Given the description of an element on the screen output the (x, y) to click on. 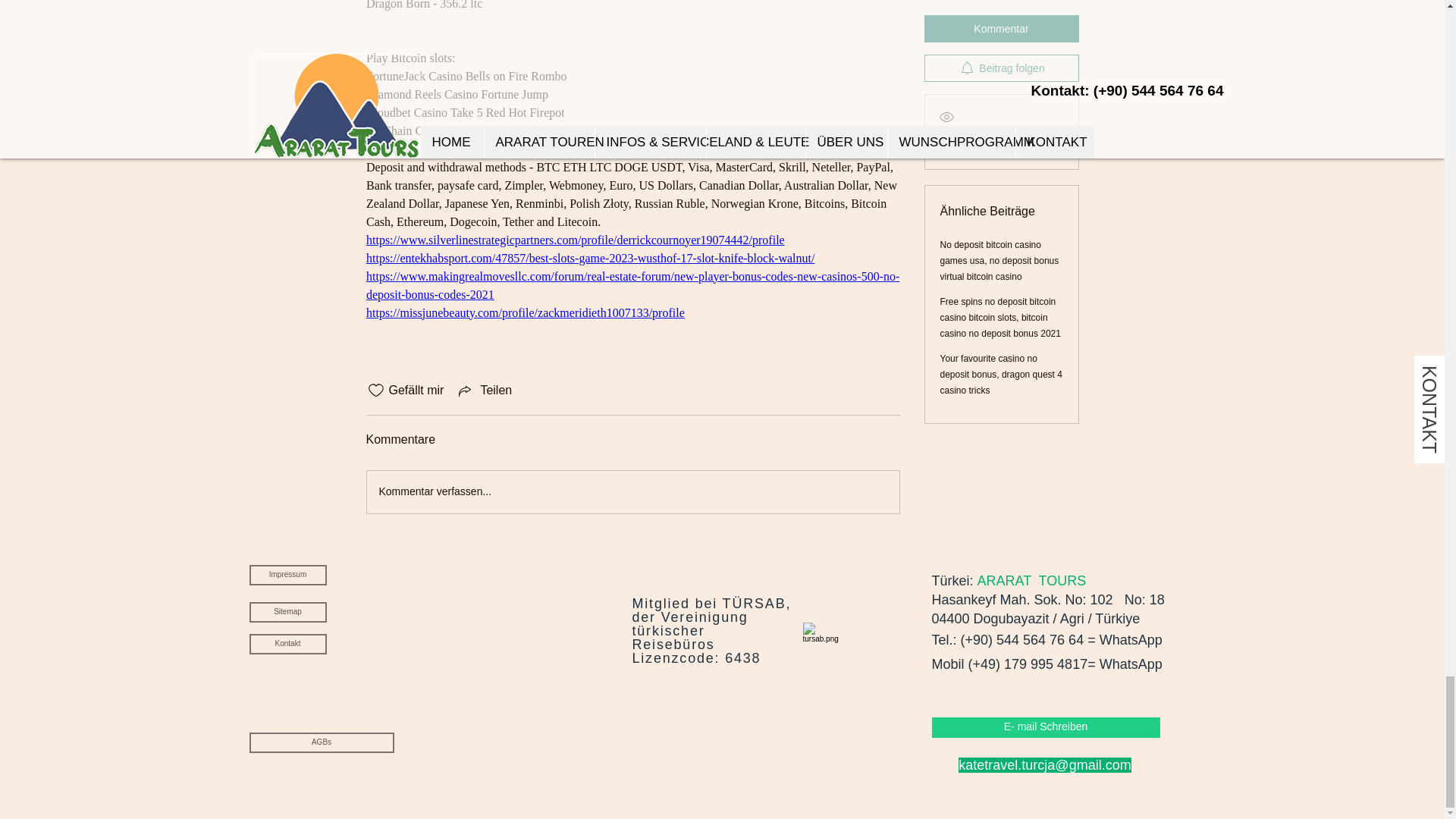
Teilen (483, 390)
Kommentar verfassen... (632, 491)
